Given the description of an element on the screen output the (x, y) to click on. 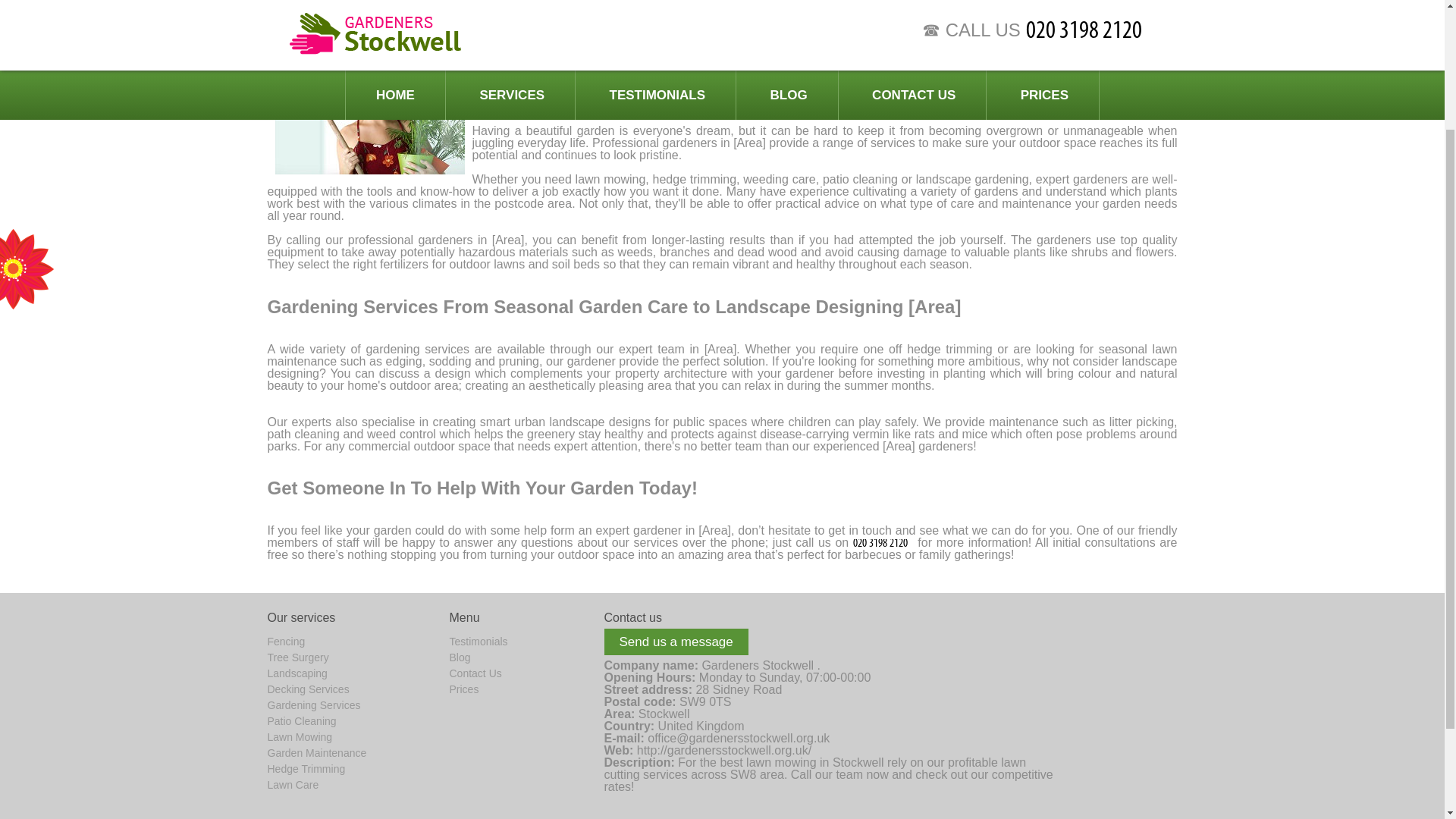
Tree Surgery (297, 657)
Decking Services (307, 689)
Landscaping (296, 673)
Call Now! (883, 542)
Send E-mail (738, 738)
Fencing (285, 641)
